Given the description of an element on the screen output the (x, y) to click on. 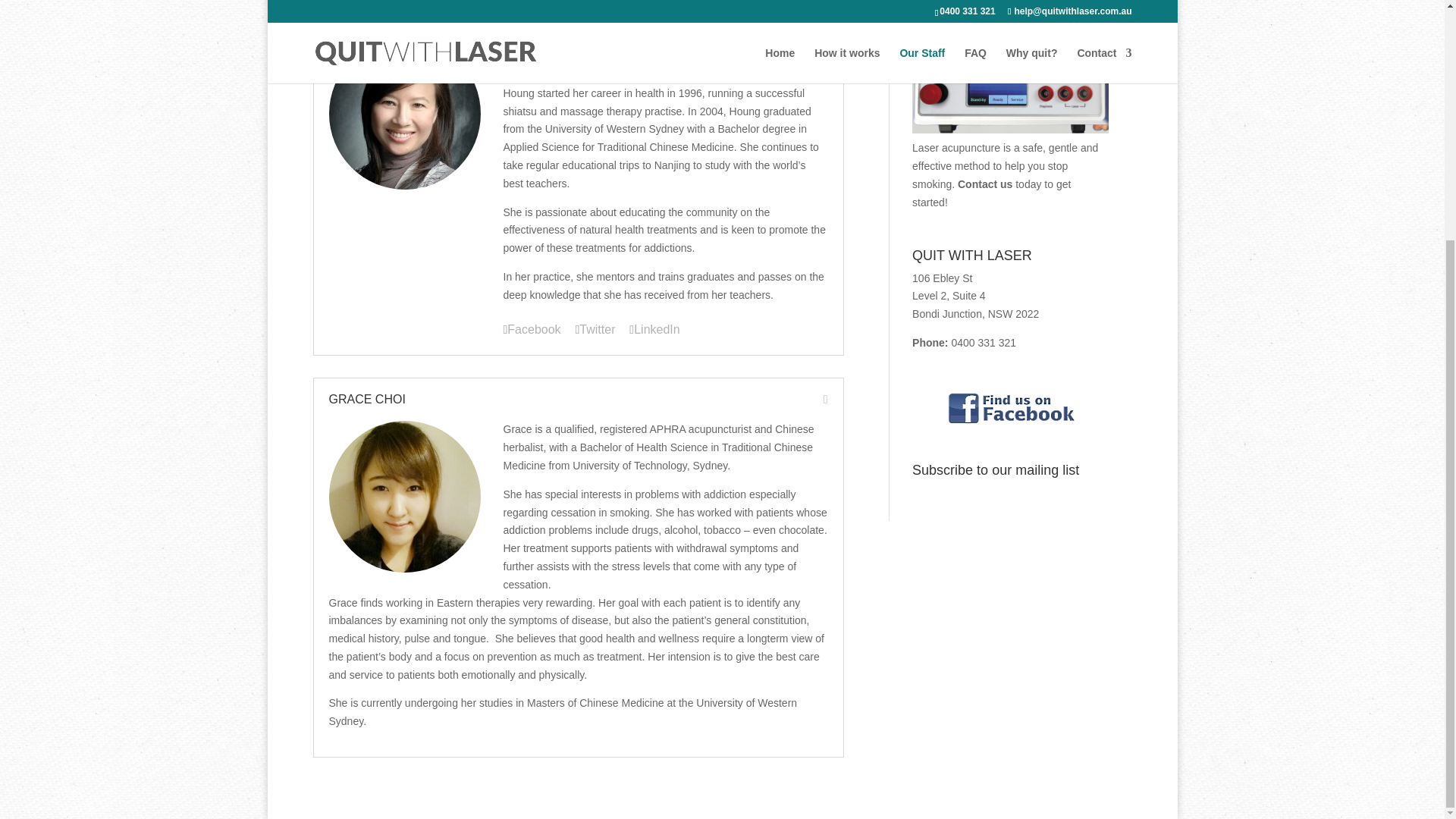
Facebook (531, 329)
Contact us (984, 184)
LinkedIn (653, 329)
Read: How it works (1010, 129)
Twitter (594, 329)
